Given the description of an element on the screen output the (x, y) to click on. 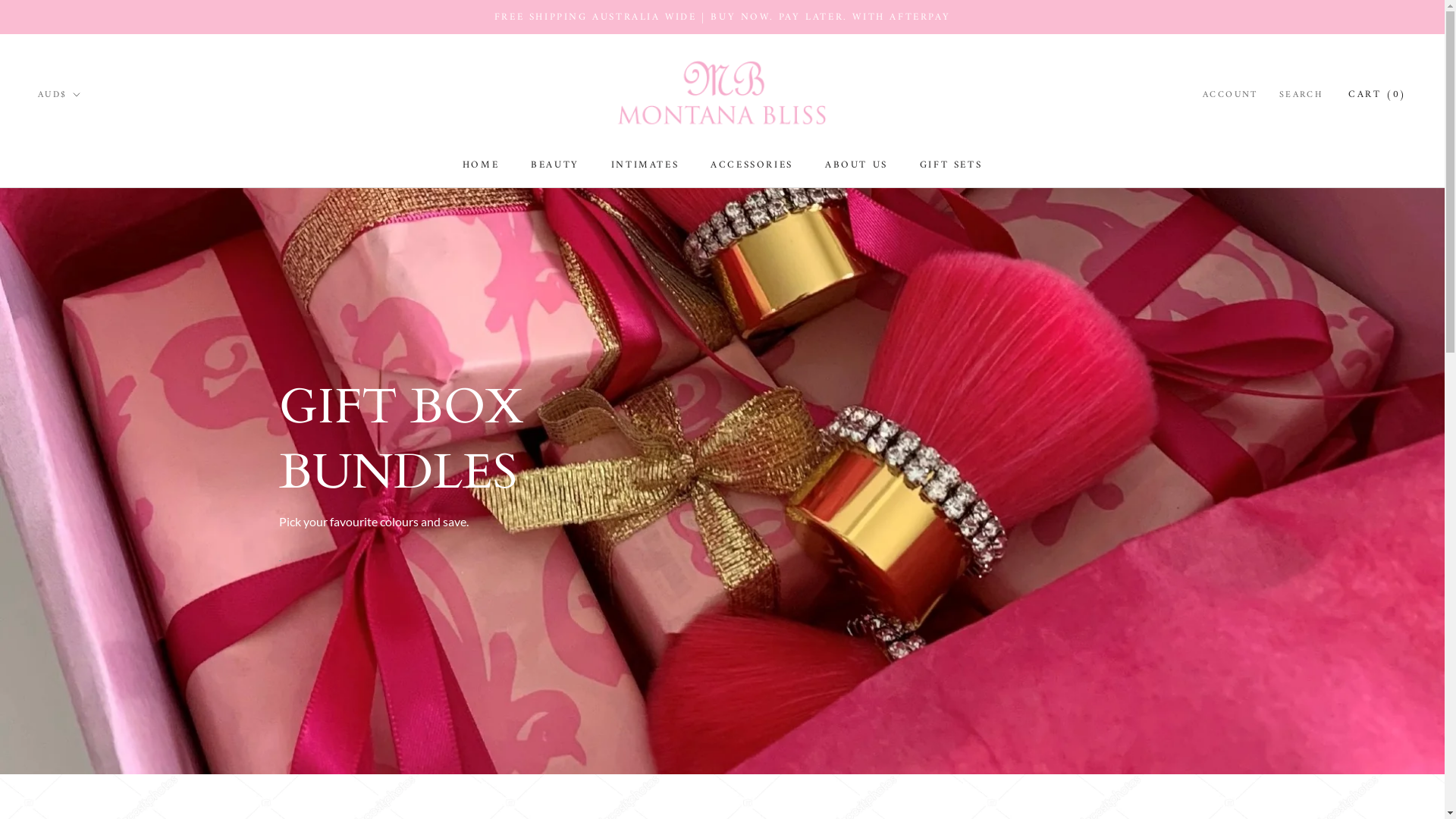
BIF Element type: text (89, 400)
BOB Element type: text (89, 444)
AUD$ Element type: text (59, 95)
CART (0) Element type: text (1377, 94)
BSD Element type: text (89, 467)
ACCESSORIES
ACCESSORIES Element type: text (751, 164)
INTIMATES
INTIMATES Element type: text (644, 164)
GIFT SETS
GIFT SETS Element type: text (950, 164)
CZK Element type: text (89, 670)
ETB Element type: text (89, 806)
BBD Element type: text (89, 332)
AMD Element type: text (89, 196)
AUD Element type: text (89, 241)
CDF Element type: text (89, 557)
ALL Element type: text (89, 174)
ACCOUNT Element type: text (1230, 95)
HOME
HOME Element type: text (480, 164)
DKK Element type: text (89, 716)
BWP Element type: text (89, 490)
DZD Element type: text (89, 761)
BDT Element type: text (89, 354)
CVE Element type: text (89, 648)
CNY Element type: text (89, 603)
CRC Element type: text (89, 626)
BGN Element type: text (89, 377)
BAM Element type: text (89, 309)
BZD Element type: text (89, 513)
BND Element type: text (89, 422)
BEAUTY Element type: text (554, 164)
AZN Element type: text (89, 287)
CHF Element type: text (89, 580)
DJF Element type: text (89, 693)
CAD Element type: text (89, 535)
EGP Element type: text (89, 783)
AED Element type: text (89, 128)
DOP Element type: text (89, 739)
AWG Element type: text (89, 264)
AFN Element type: text (89, 151)
ABOUT US
ABOUT US Element type: text (856, 164)
SEARCH Element type: text (1301, 95)
ANG Element type: text (89, 219)
